Given the description of an element on the screen output the (x, y) to click on. 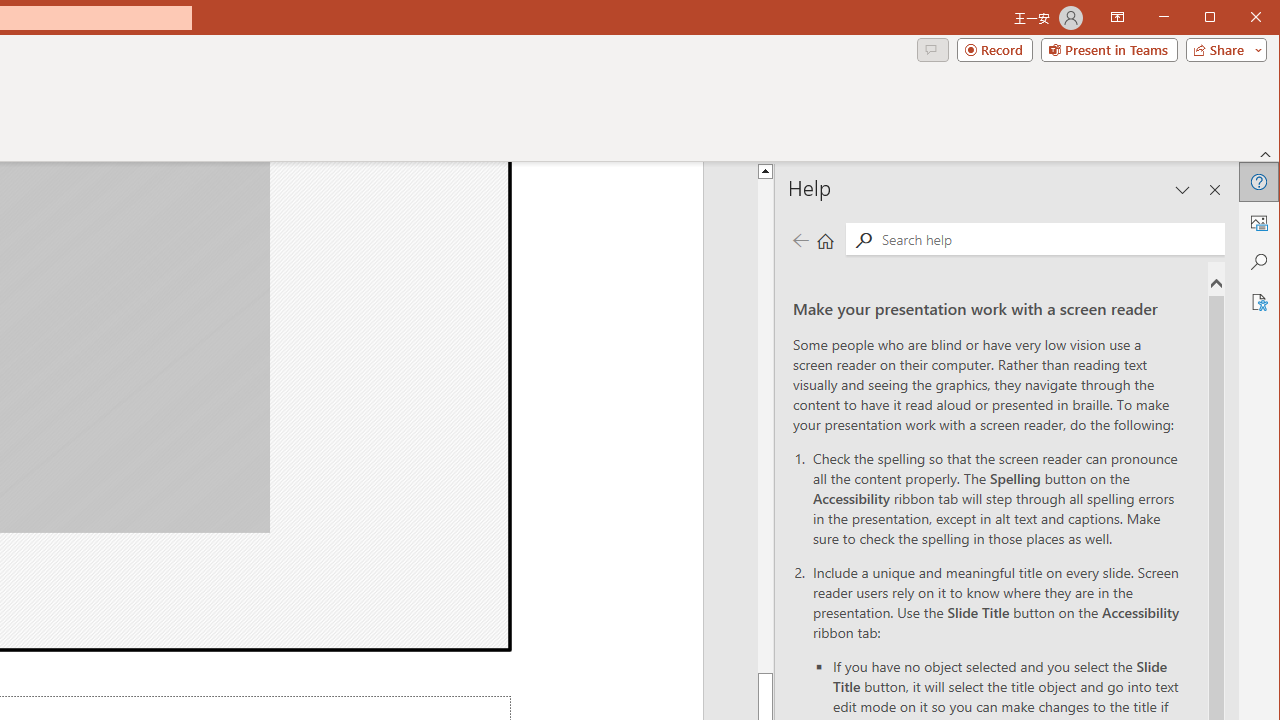
Previous page (800, 240)
